Given the description of an element on the screen output the (x, y) to click on. 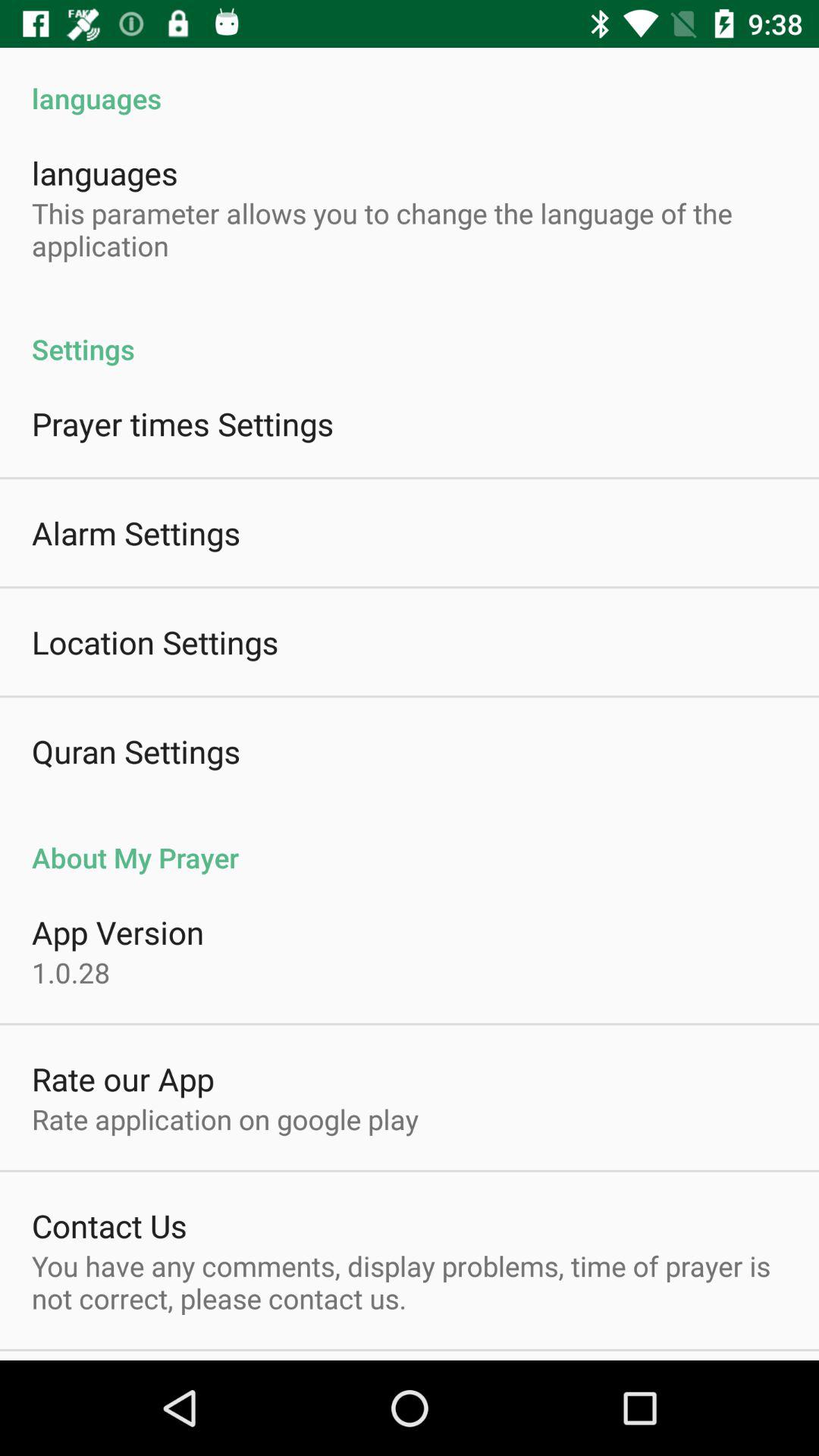
tap rate our app (122, 1078)
